Given the description of an element on the screen output the (x, y) to click on. 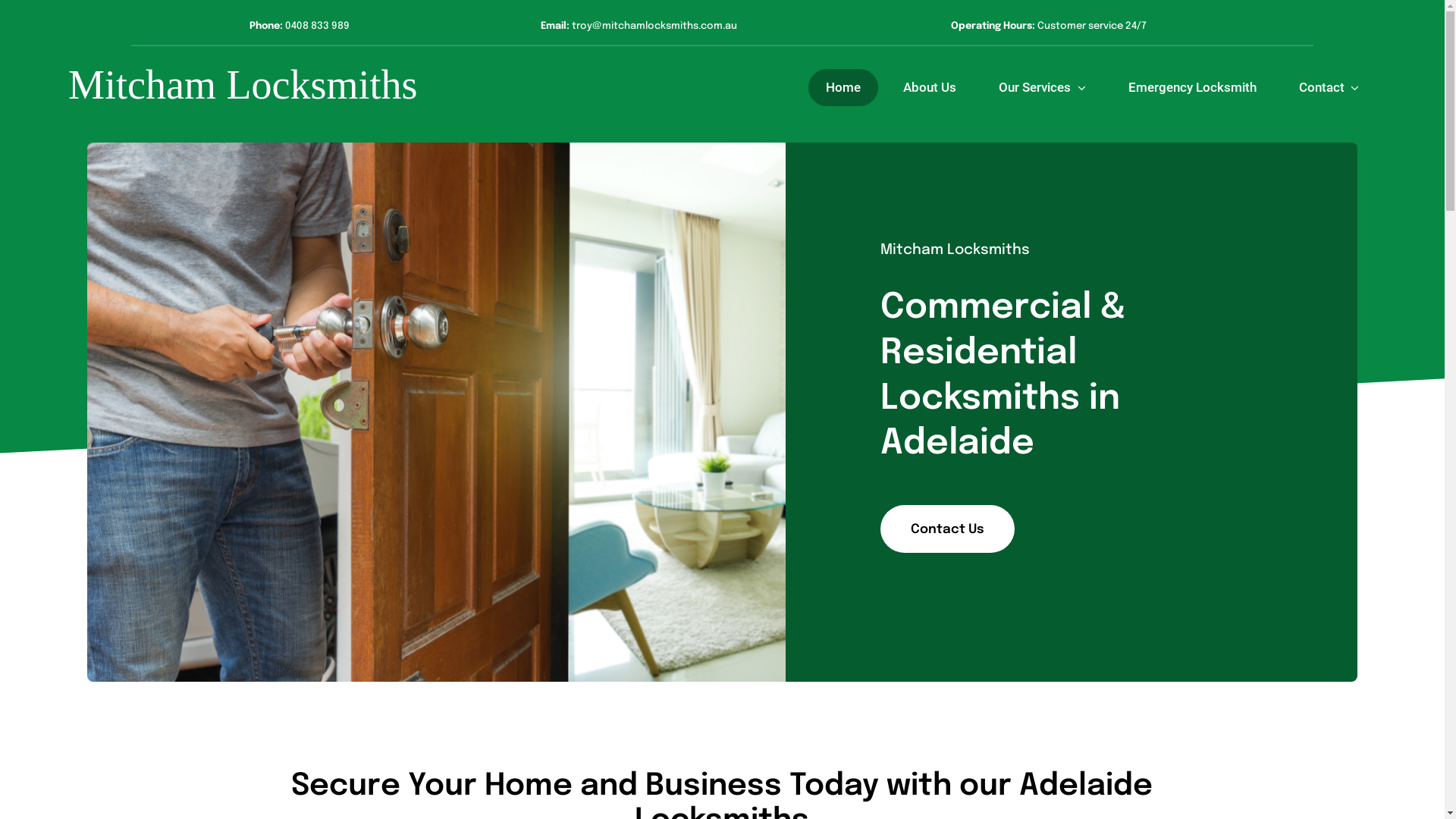
Our Services Element type: text (1042, 87)
Home Element type: text (843, 87)
About Us Element type: text (929, 87)
Contact Element type: text (1329, 87)
0408 833 989 Element type: text (317, 26)
Emergency Locksmith Element type: text (1191, 87)
Contact Us Element type: text (947, 528)
troy@mitchamlocksmiths.com.au Element type: text (654, 26)
Mitcham Locksmiths Element type: text (242, 84)
